Given the description of an element on the screen output the (x, y) to click on. 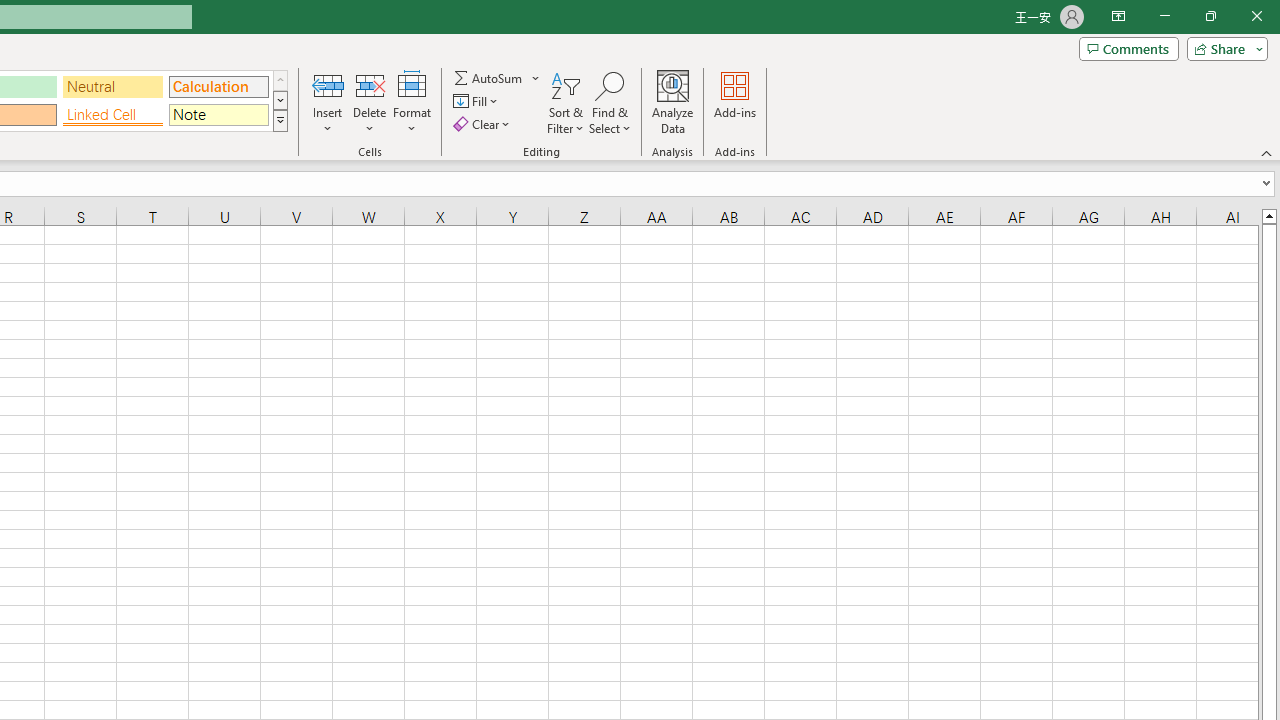
Note (218, 114)
Insert Cells (328, 84)
Sort & Filter (566, 102)
Format (411, 102)
Delete (369, 102)
